Given the description of an element on the screen output the (x, y) to click on. 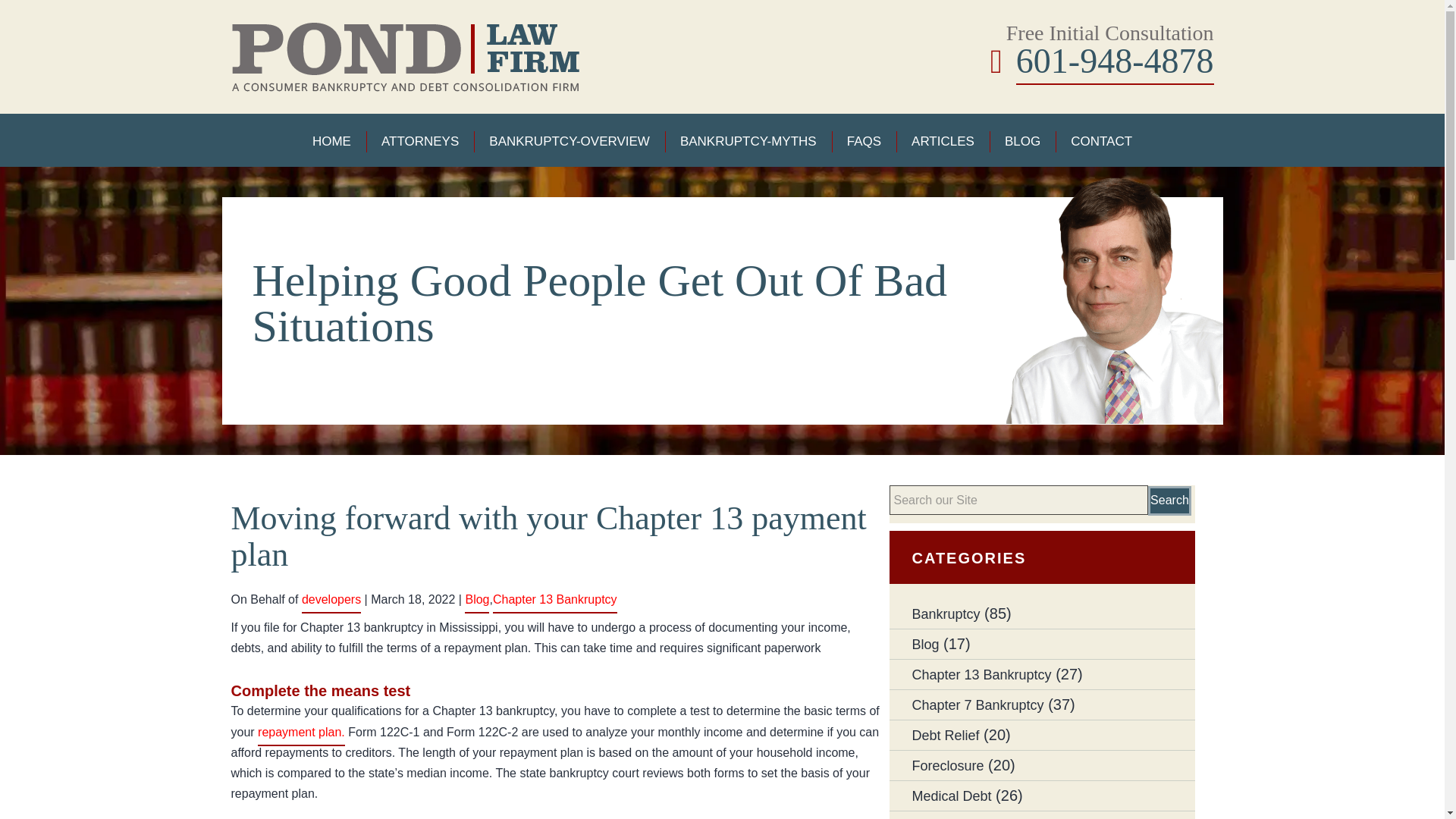
Medical Debt (951, 796)
ARTICLES (942, 141)
developers (331, 599)
BLOG (1022, 141)
Blog (476, 599)
Foreclosure (947, 766)
Blog (925, 644)
Chapter 13 Bankruptcy (981, 674)
Uncategorized (954, 816)
